Given the description of an element on the screen output the (x, y) to click on. 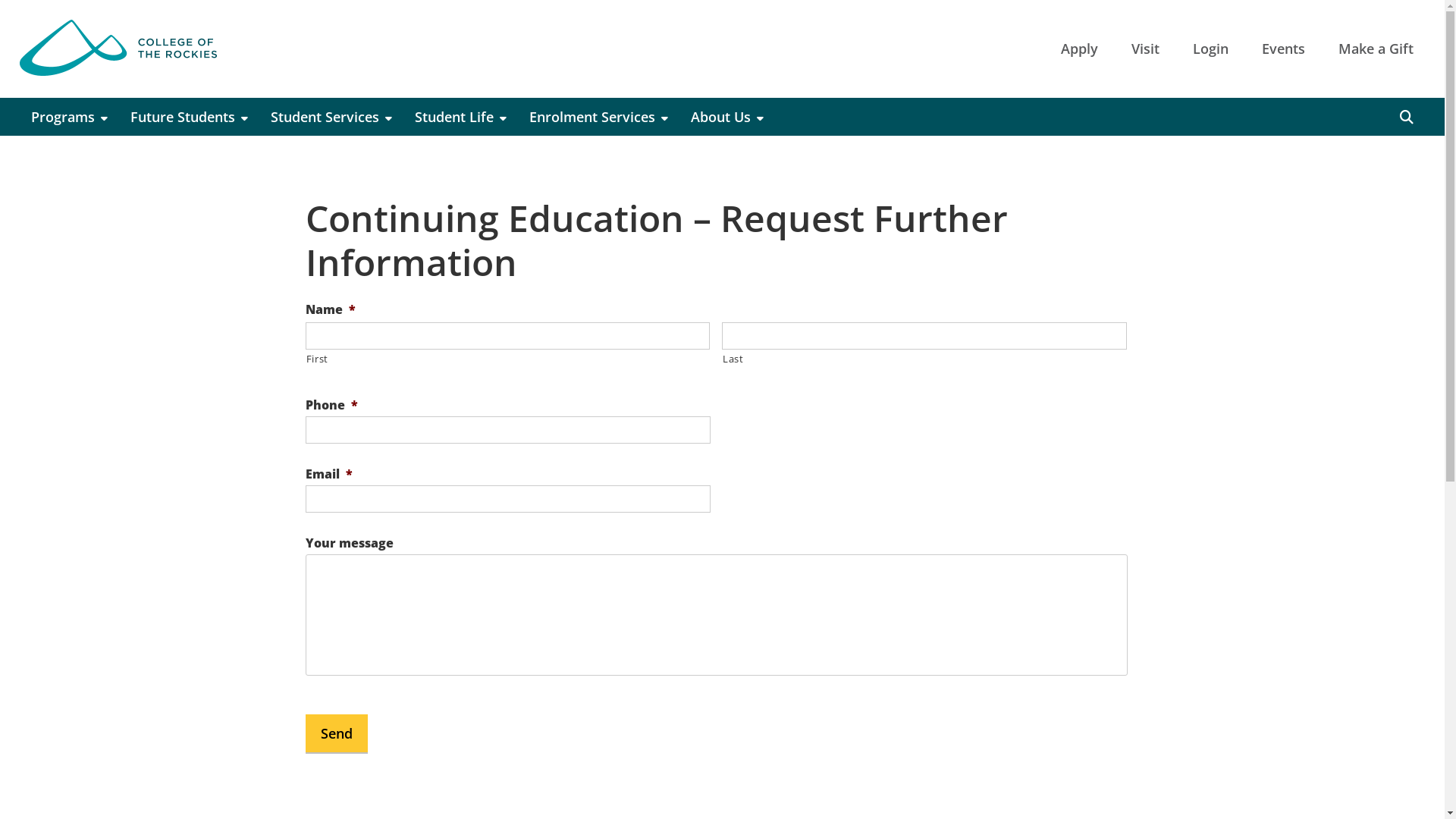
Login Element type: text (1210, 48)
Send Element type: text (335, 733)
Apply Element type: text (1079, 48)
Future Students Element type: text (189, 116)
Student Services Element type: text (331, 116)
College of the Rockies Element type: text (117, 48)
Programs Element type: text (69, 116)
Visit Element type: text (1145, 48)
Make a Gift Element type: text (1375, 48)
About Us Element type: text (727, 116)
Student Life Element type: text (460, 116)
Enrolment Services Element type: text (598, 116)
Events Element type: text (1283, 48)
